Given the description of an element on the screen output the (x, y) to click on. 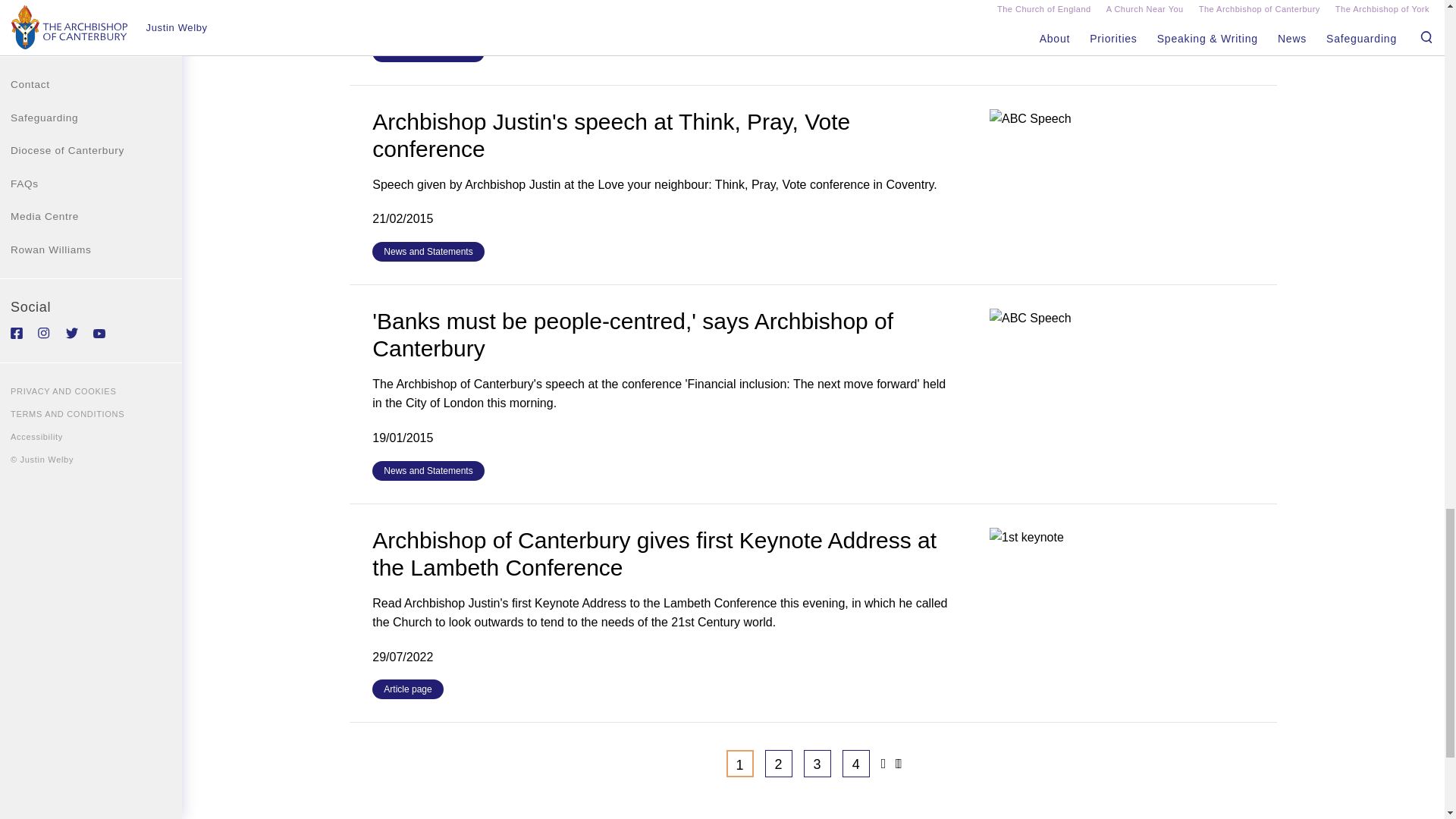
Go to page 4 (856, 763)
Current page (740, 763)
Go to page 2 (778, 763)
Go to page 3 (817, 763)
